Given the description of an element on the screen output the (x, y) to click on. 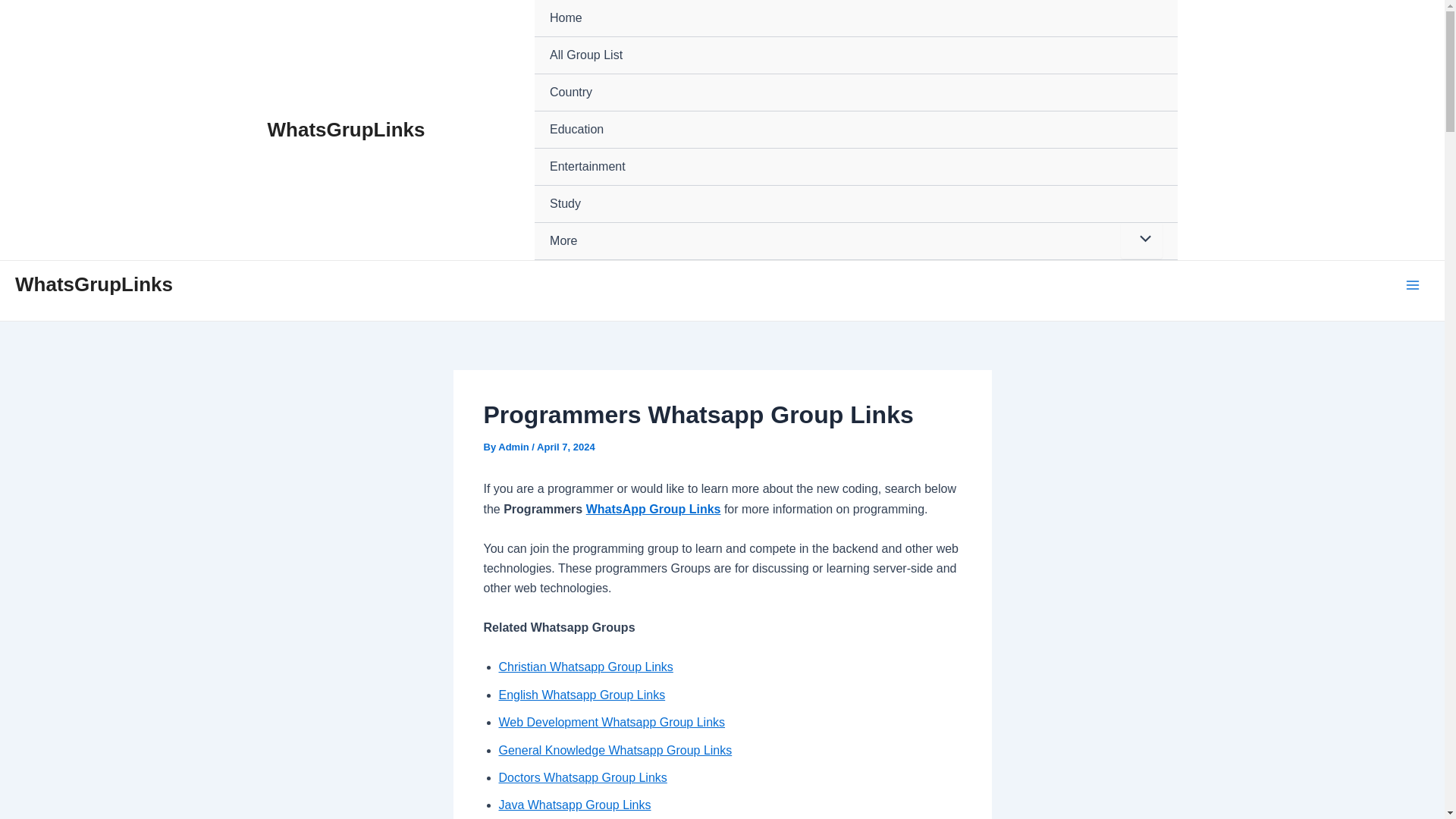
WhatsApp Group Links (653, 508)
Home (855, 18)
All Group List (855, 55)
Education (855, 129)
English Whatsapp Group Links (582, 694)
Java Whatsapp Group Links (574, 804)
General Knowledge Whatsapp Group Links (615, 749)
Doctors Whatsapp Group Links (582, 777)
Entertainment (855, 166)
Web Development Whatsapp Group Links (612, 721)
